Given the description of an element on the screen output the (x, y) to click on. 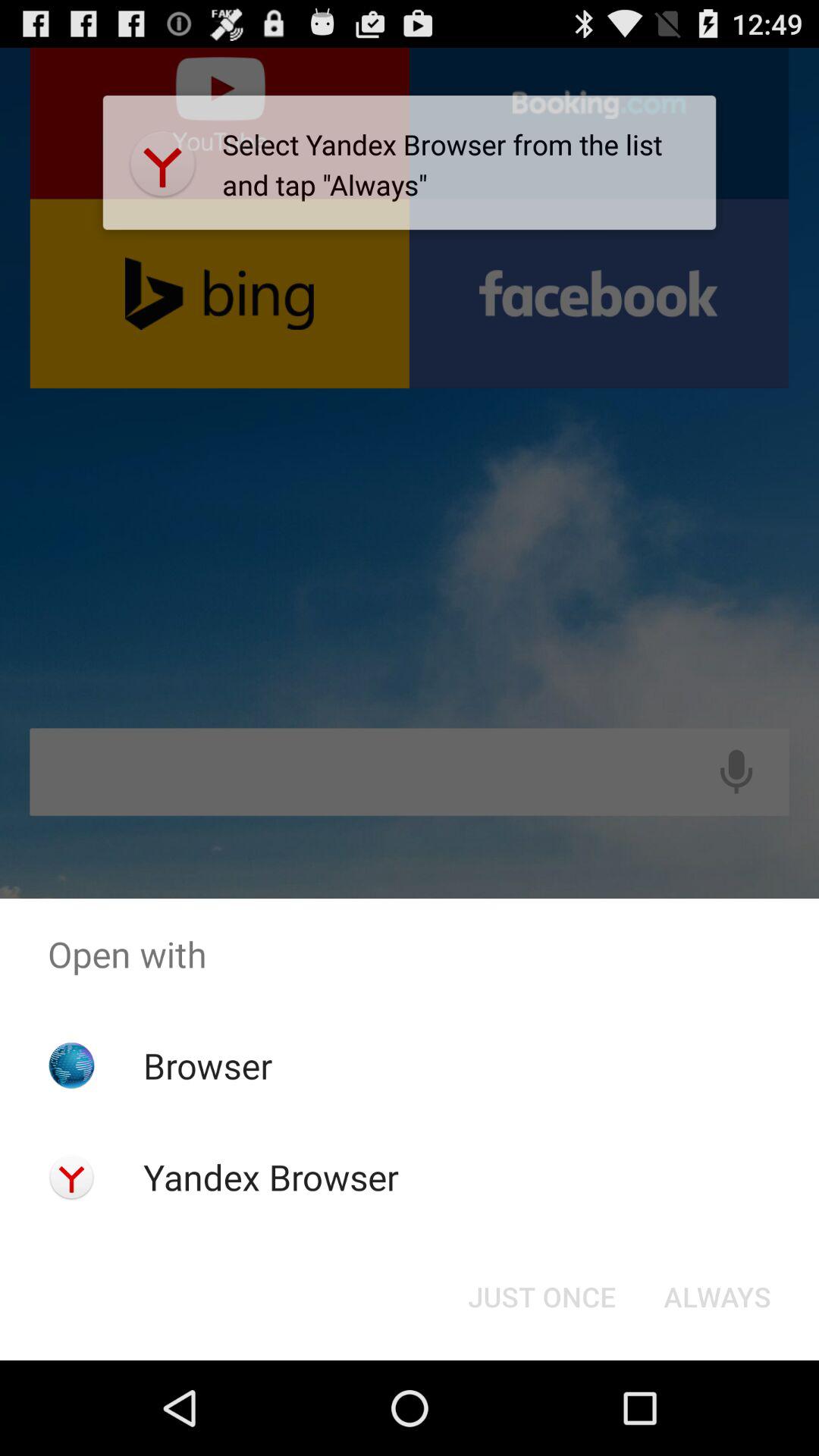
select the just once at the bottom (541, 1296)
